Given the description of an element on the screen output the (x, y) to click on. 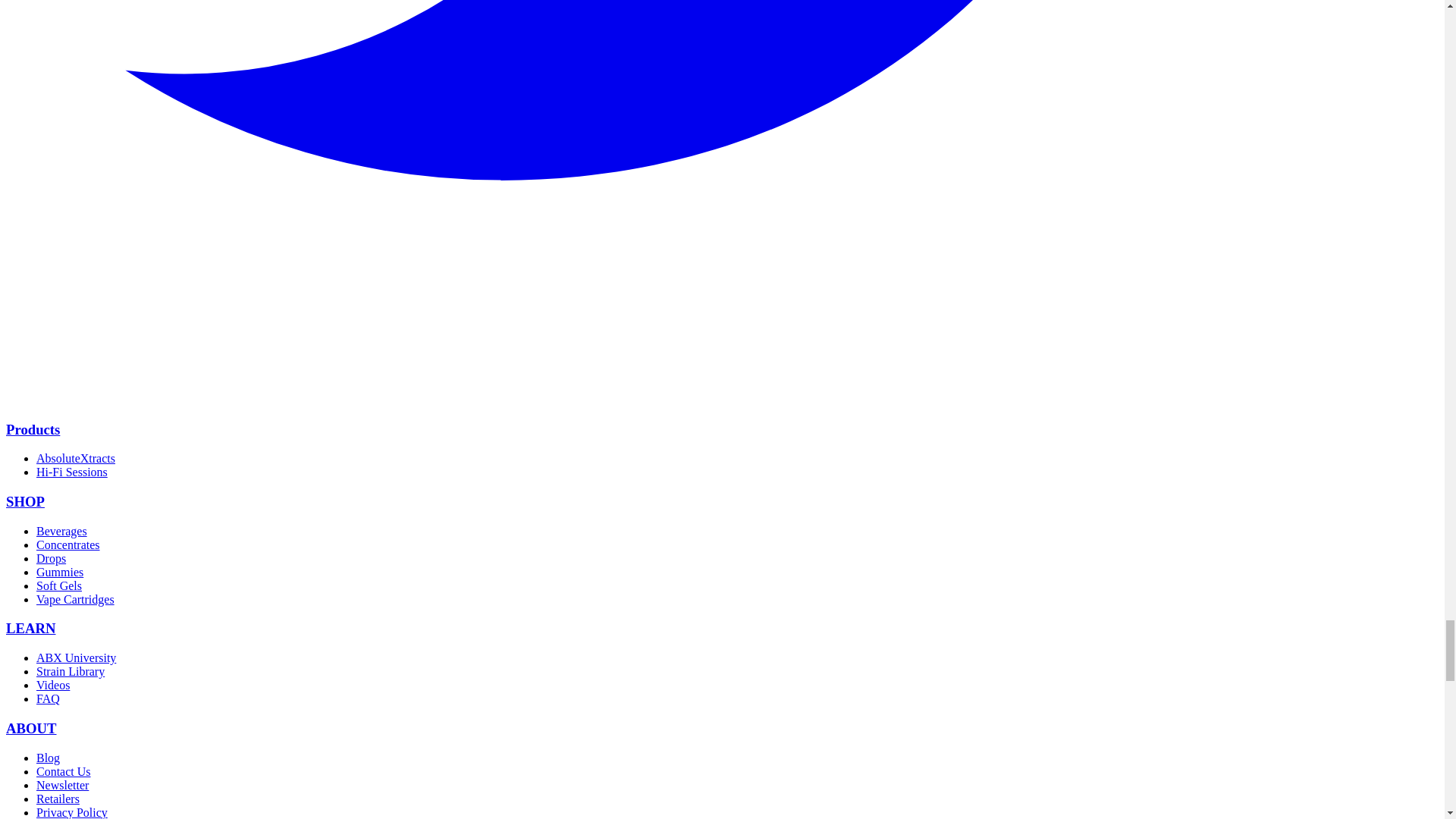
Concentrates (68, 544)
Products (32, 429)
Beverages (61, 530)
Drops (50, 558)
Hi-Fi Sessions (71, 472)
SHOP (25, 501)
Gummies (59, 571)
AbsoluteXtracts (75, 458)
